Given the description of an element on the screen output the (x, y) to click on. 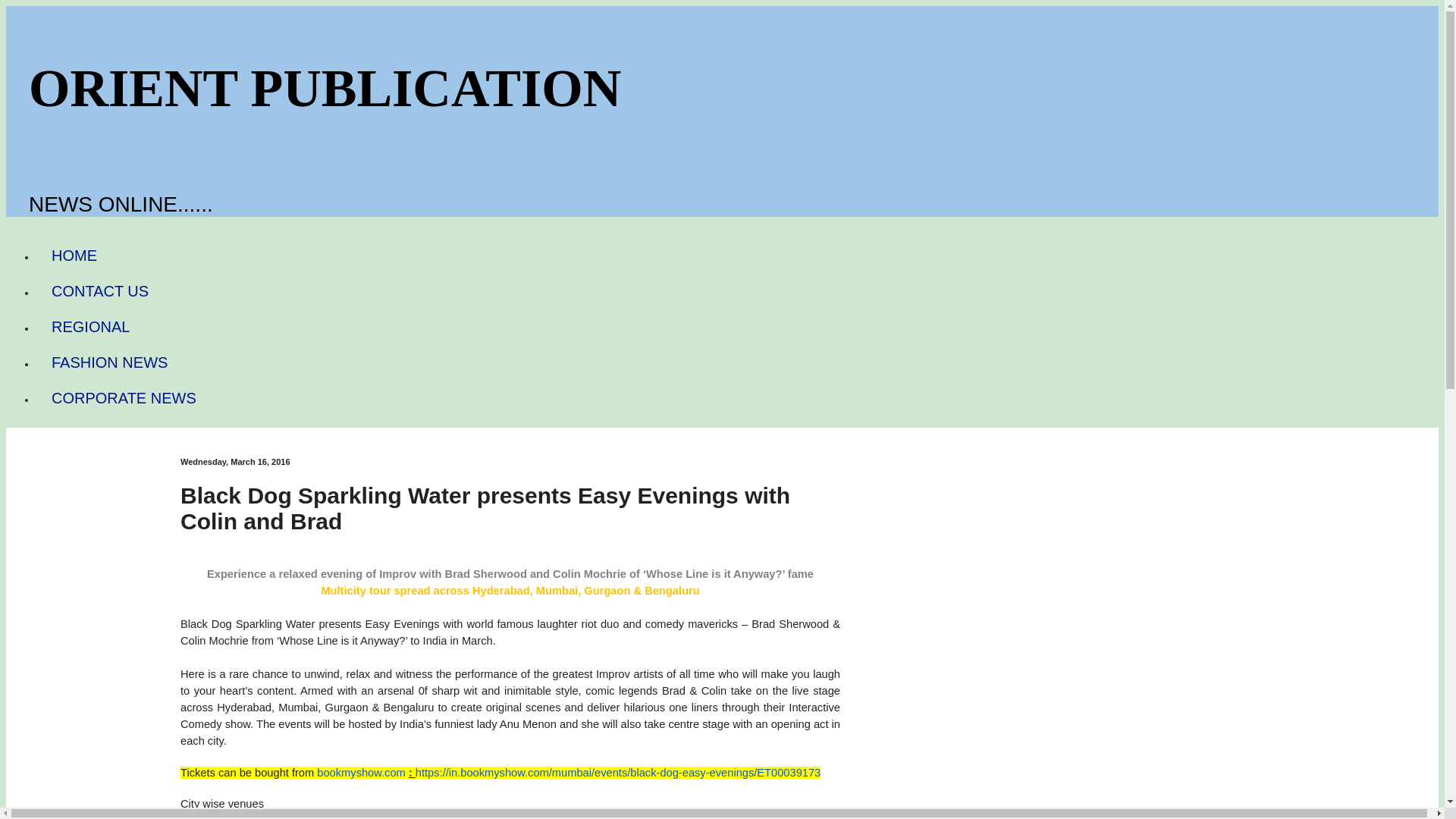
CONTACT US (99, 291)
ORIENT PUBLICATION (325, 87)
CORPORATE NEWS (123, 398)
bookmyshow.com (360, 772)
REGIONAL (90, 326)
HOME (74, 255)
FASHION NEWS (109, 362)
